Given the description of an element on the screen output the (x, y) to click on. 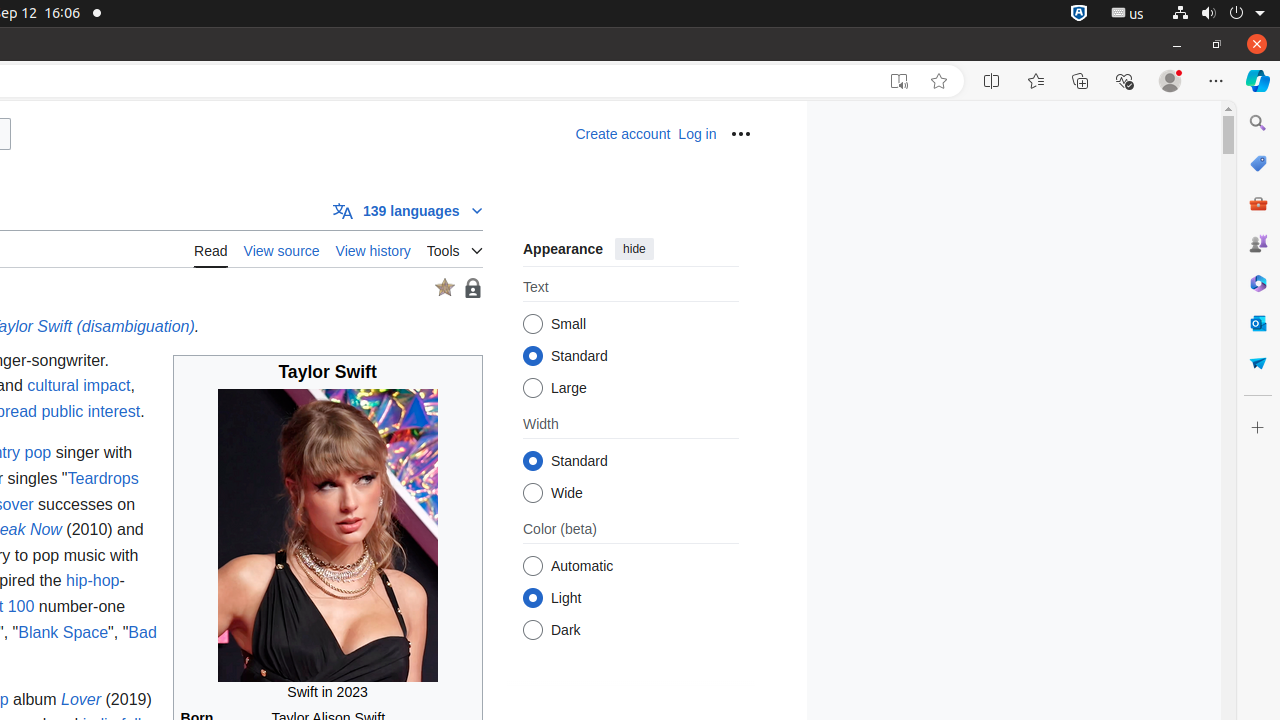
Small Element type: radio-button (532, 324)
Collections Element type: push-button (1080, 81)
Drop Element type: push-button (1258, 363)
Log in Element type: link (697, 133)
Page semi-protected Element type: link (472, 287)
